Given the description of an element on the screen output the (x, y) to click on. 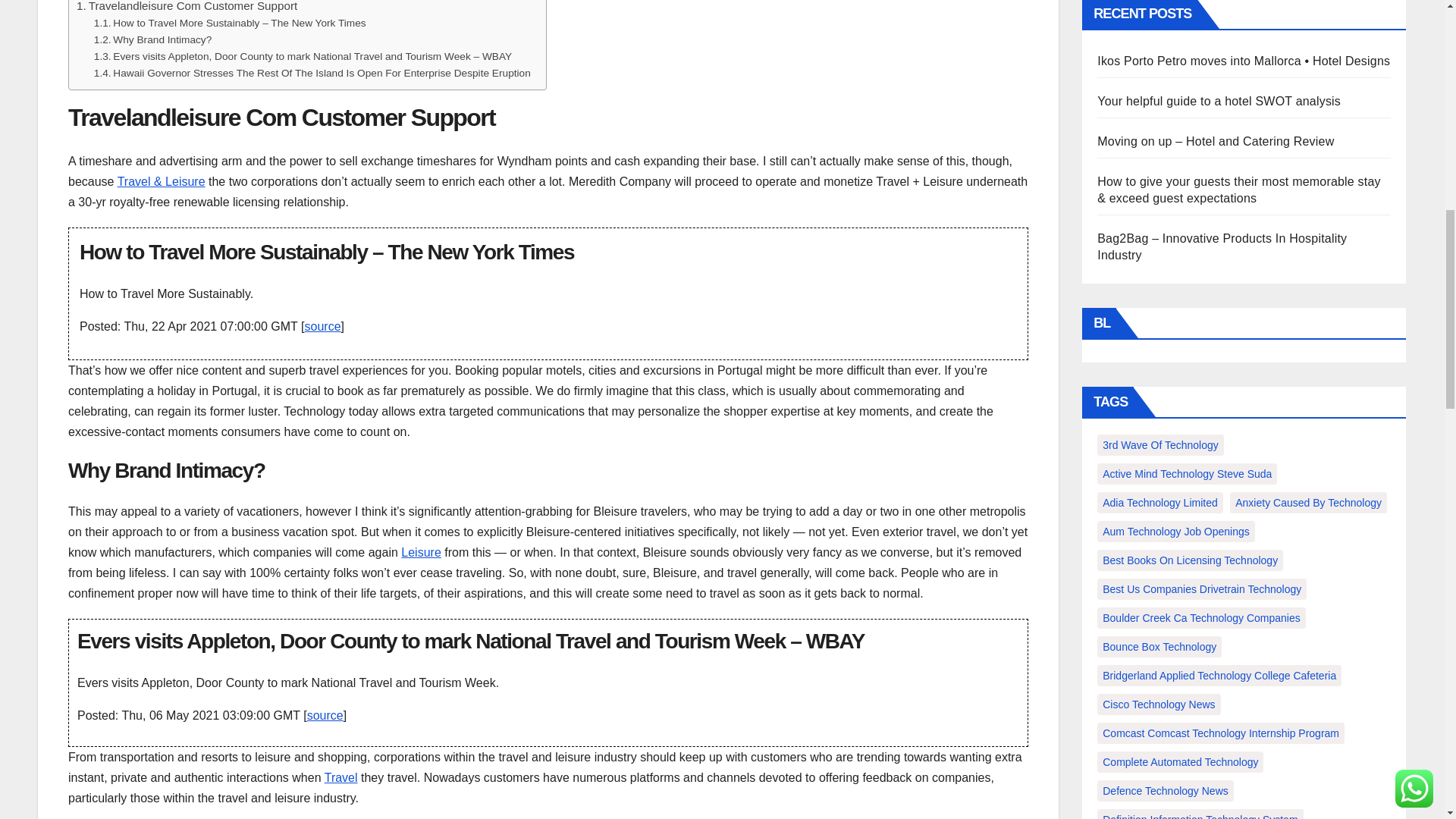
Travelandleisure Com Customer Support (187, 7)
Travelandleisure Com Customer Support (187, 7)
Why Brand Intimacy? (153, 39)
